Given the description of an element on the screen output the (x, y) to click on. 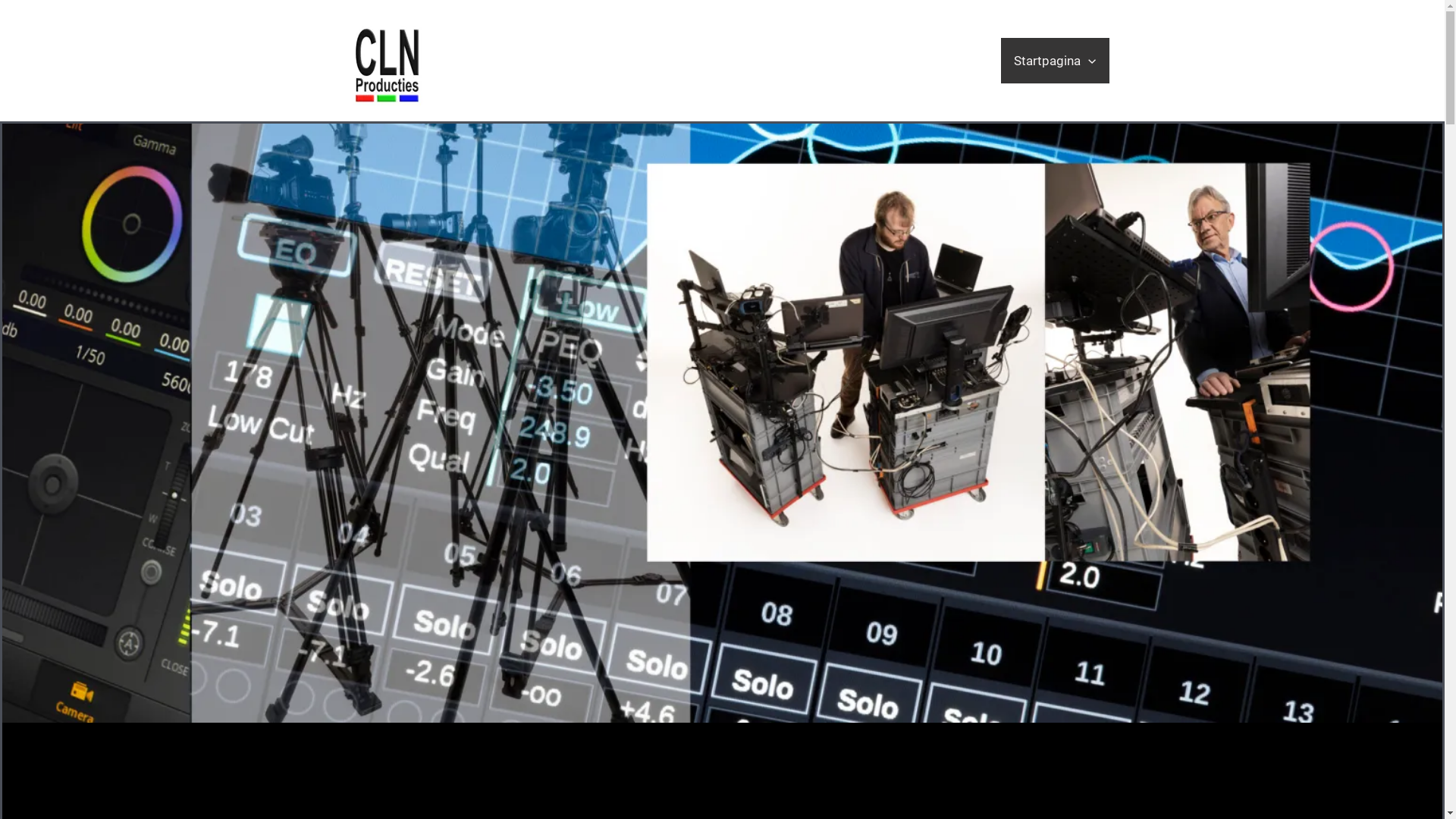
Startpagina Element type: text (1054, 60)
